Given the description of an element on the screen output the (x, y) to click on. 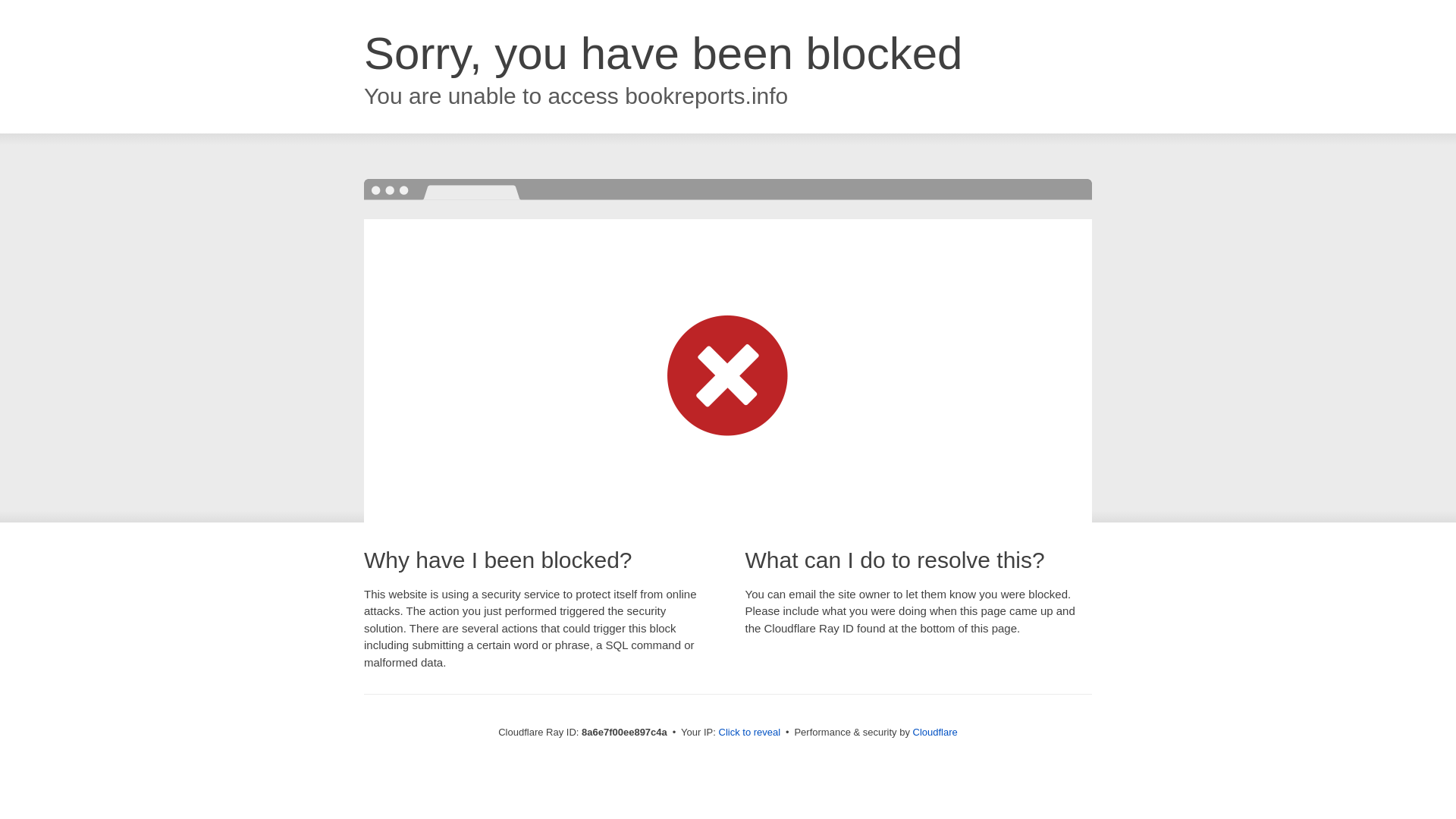
Cloudflare (935, 731)
Click to reveal (749, 732)
